Given the description of an element on the screen output the (x, y) to click on. 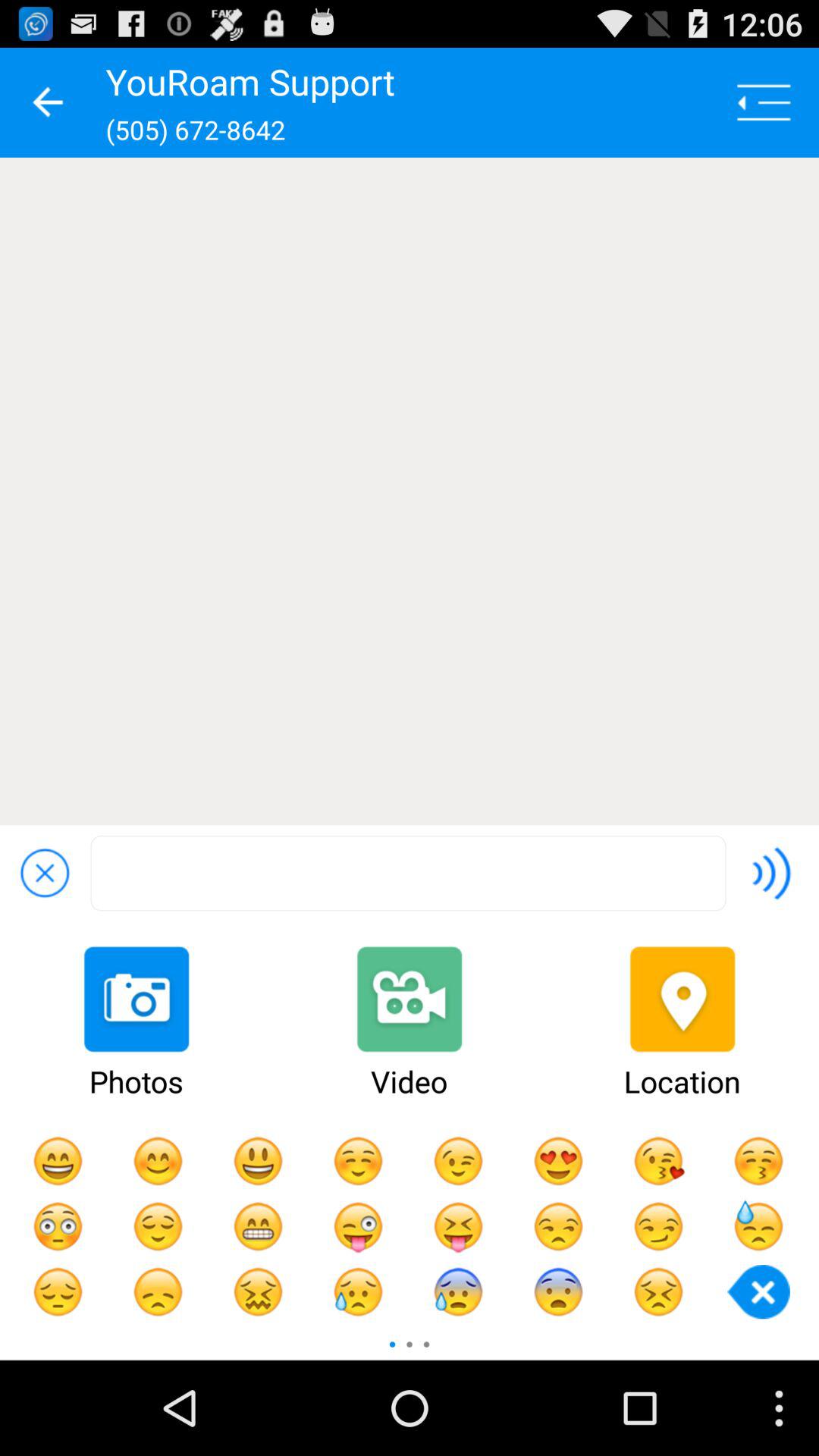
find (408, 873)
